Given the description of an element on the screen output the (x, y) to click on. 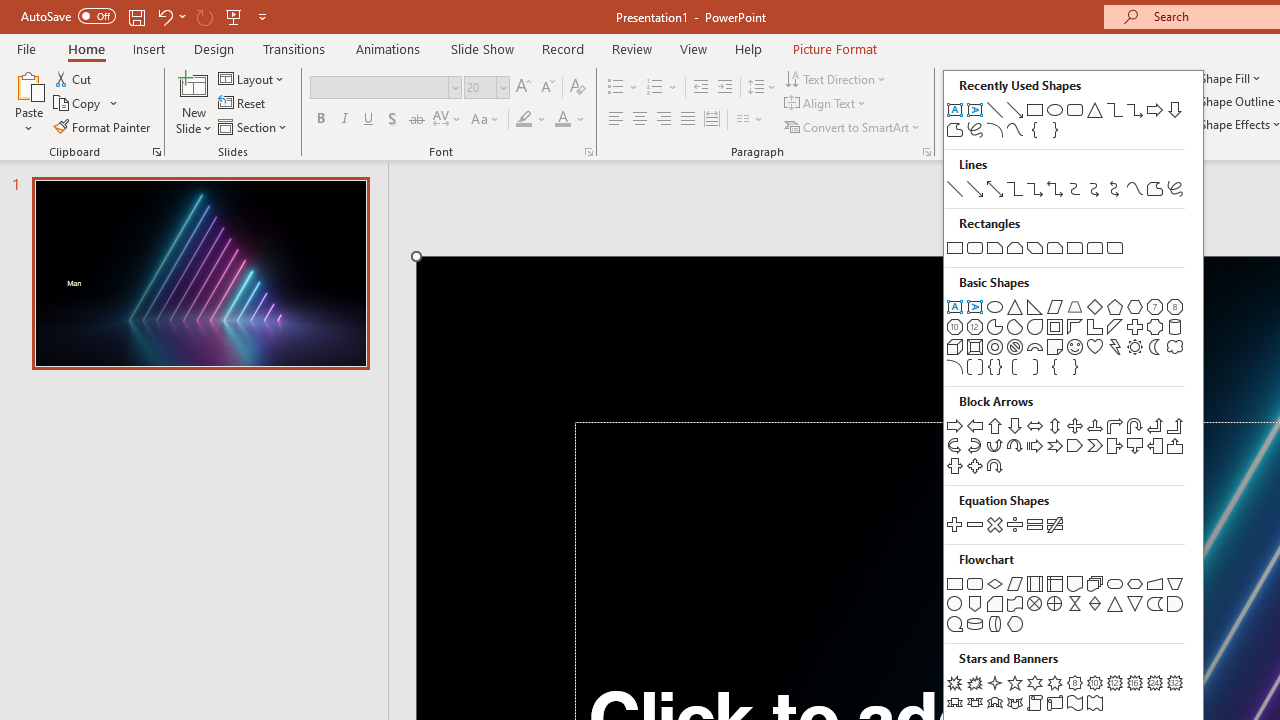
Bold (320, 119)
Insert (149, 48)
Transitions (294, 48)
Clear Formatting (577, 87)
Decrease Indent (700, 87)
Picture Format (834, 48)
Paste (28, 84)
Text Highlight Color Yellow (524, 119)
Format Painter (103, 126)
Quick Access Toolbar (145, 16)
Font (385, 87)
Underline (369, 119)
Align Text (826, 103)
Font Size (480, 87)
